Given the description of an element on the screen output the (x, y) to click on. 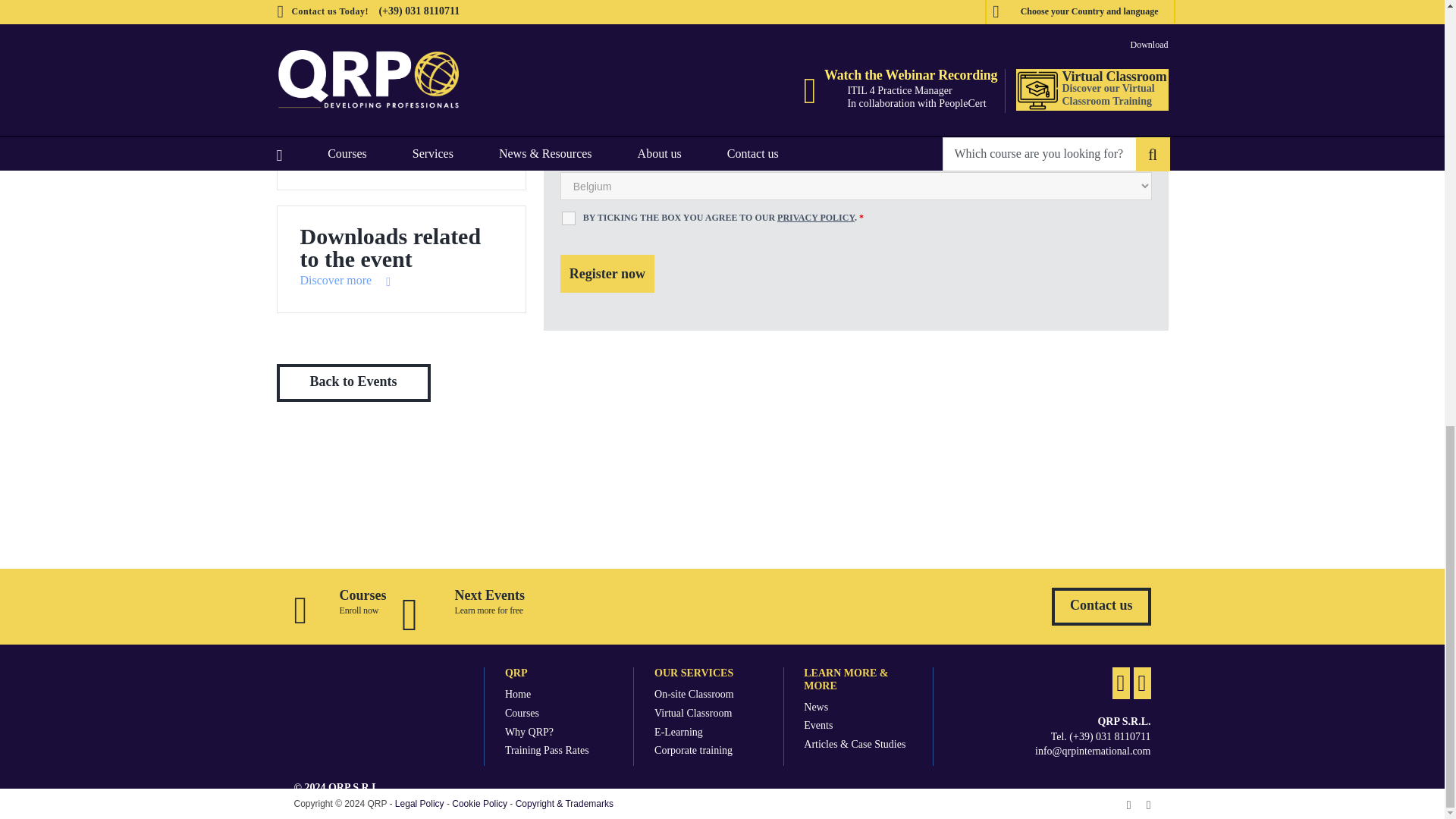
Cookie Policy  (478, 803)
Register now (606, 273)
